Given the description of an element on the screen output the (x, y) to click on. 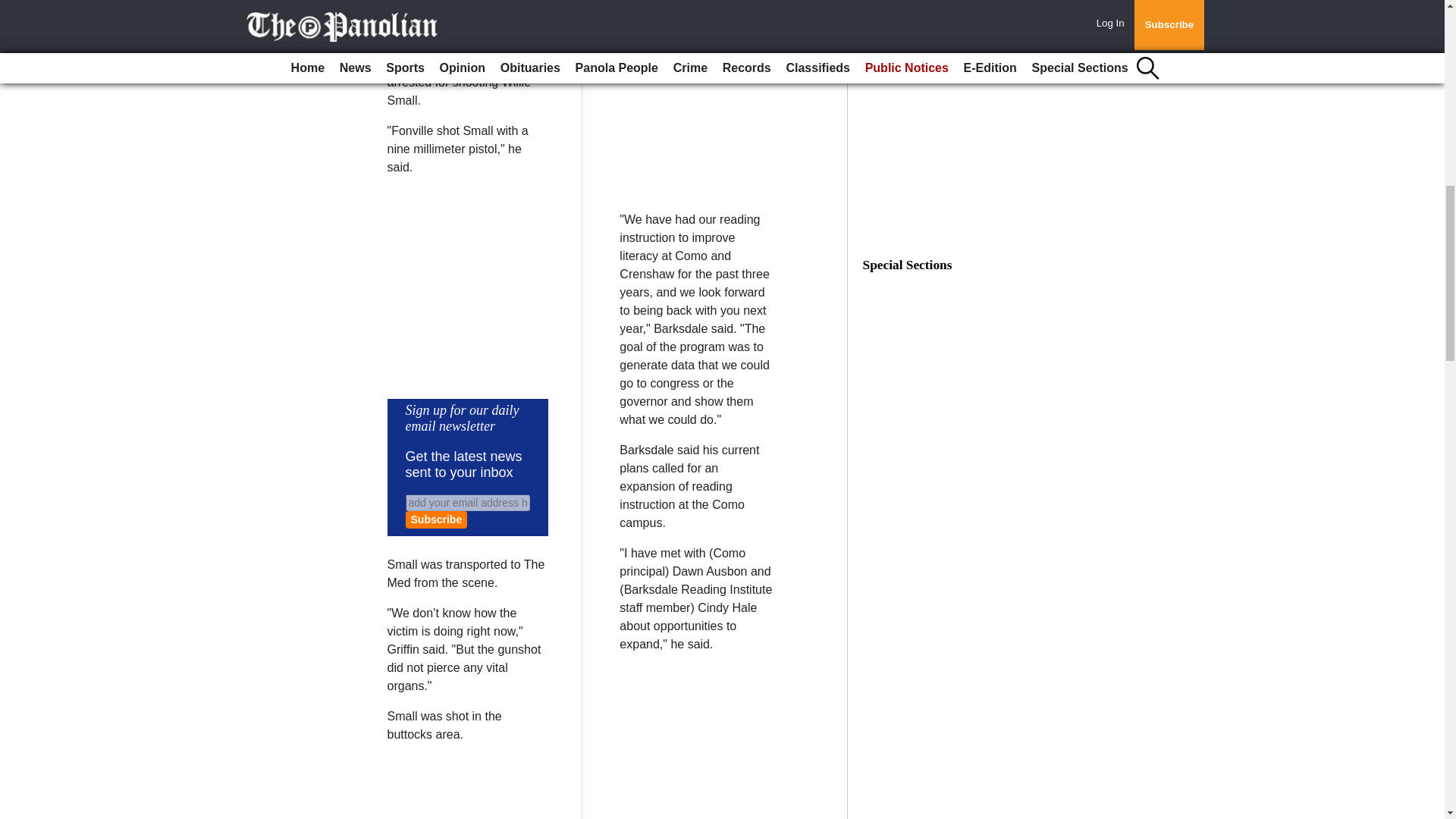
Subscribe (435, 519)
Subscribe (435, 519)
